Given the description of an element on the screen output the (x, y) to click on. 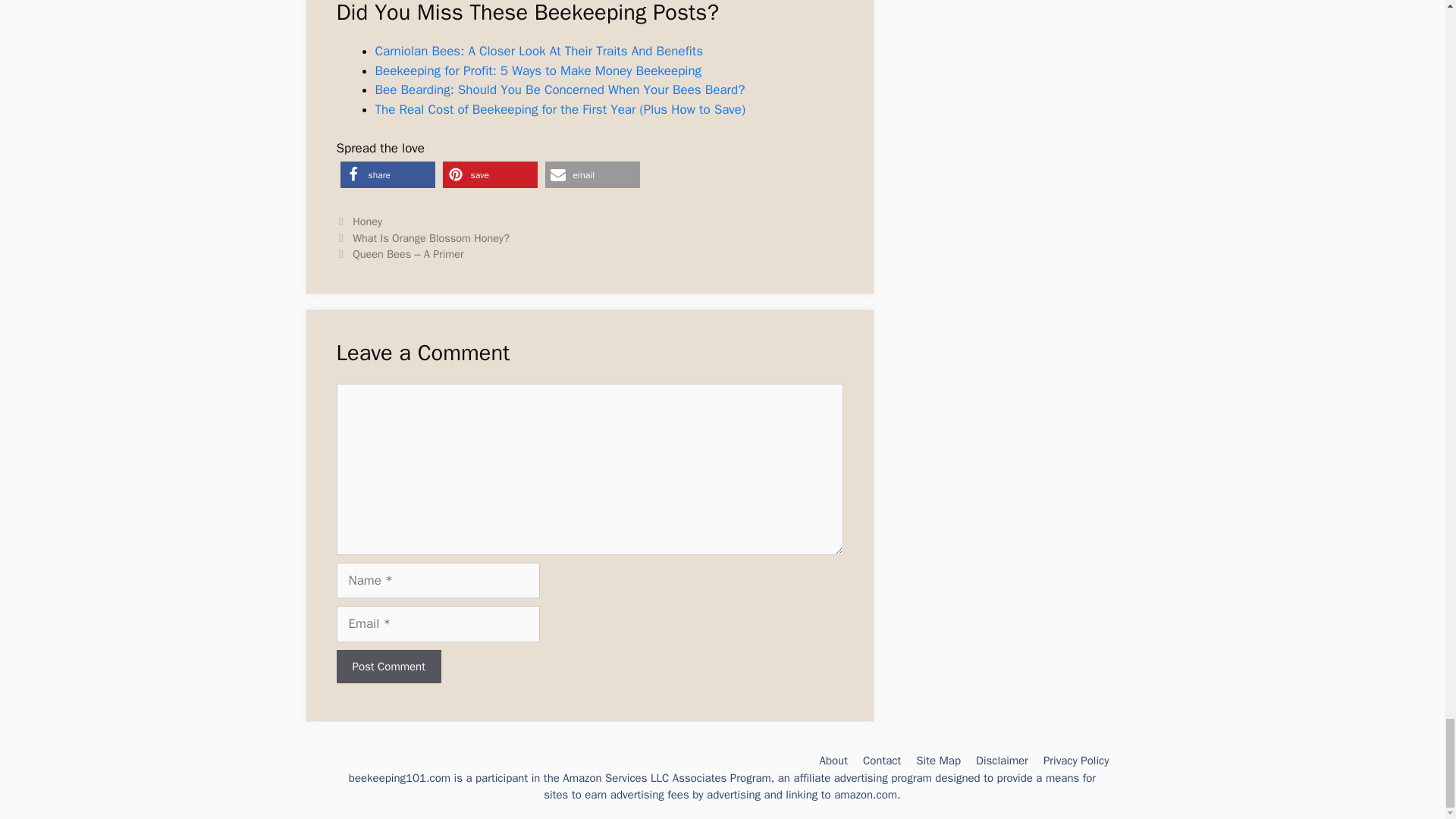
Post Comment (388, 666)
